Given the description of an element on the screen output the (x, y) to click on. 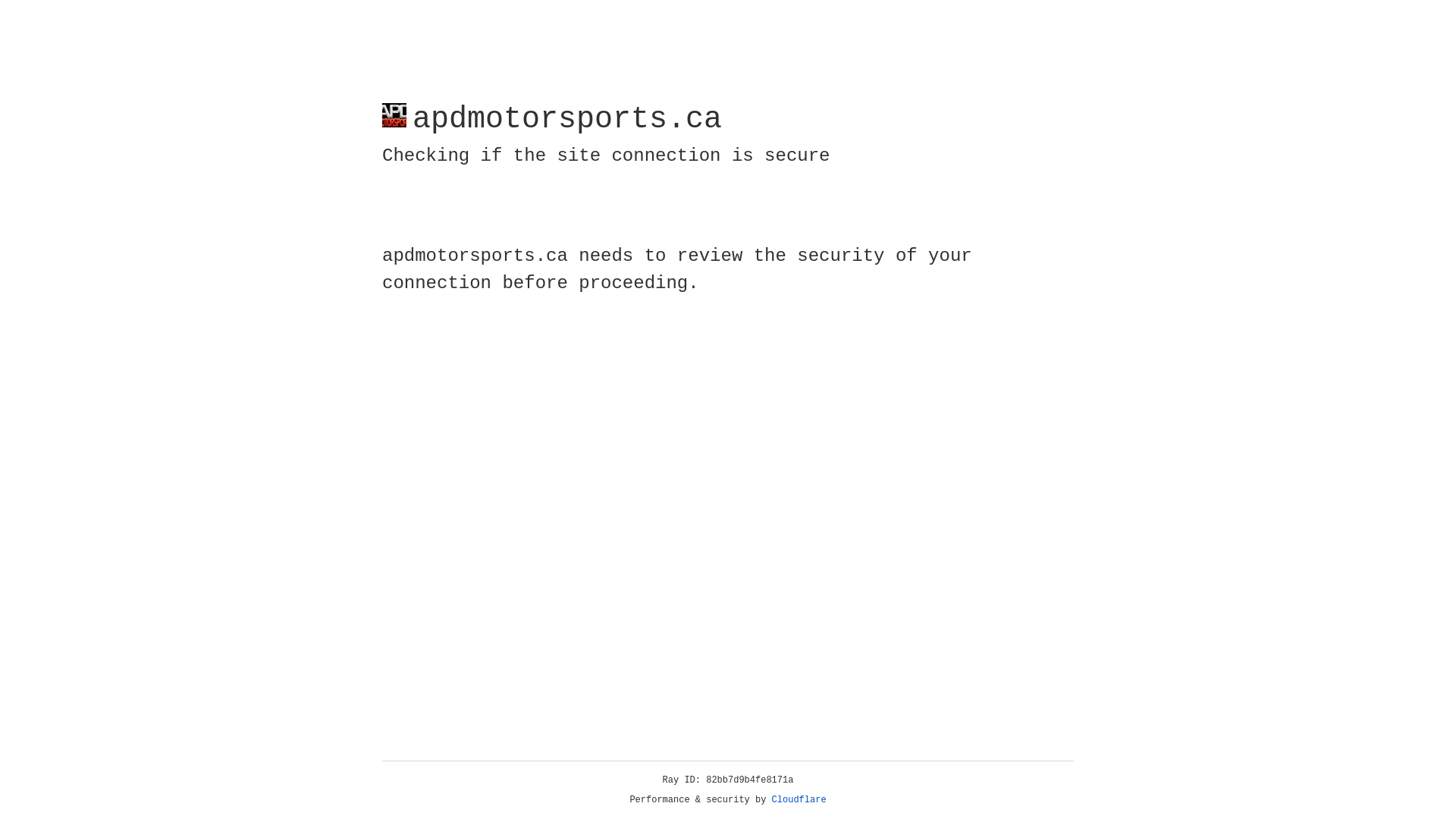
Cloudflare Element type: text (798, 799)
